Given the description of an element on the screen output the (x, y) to click on. 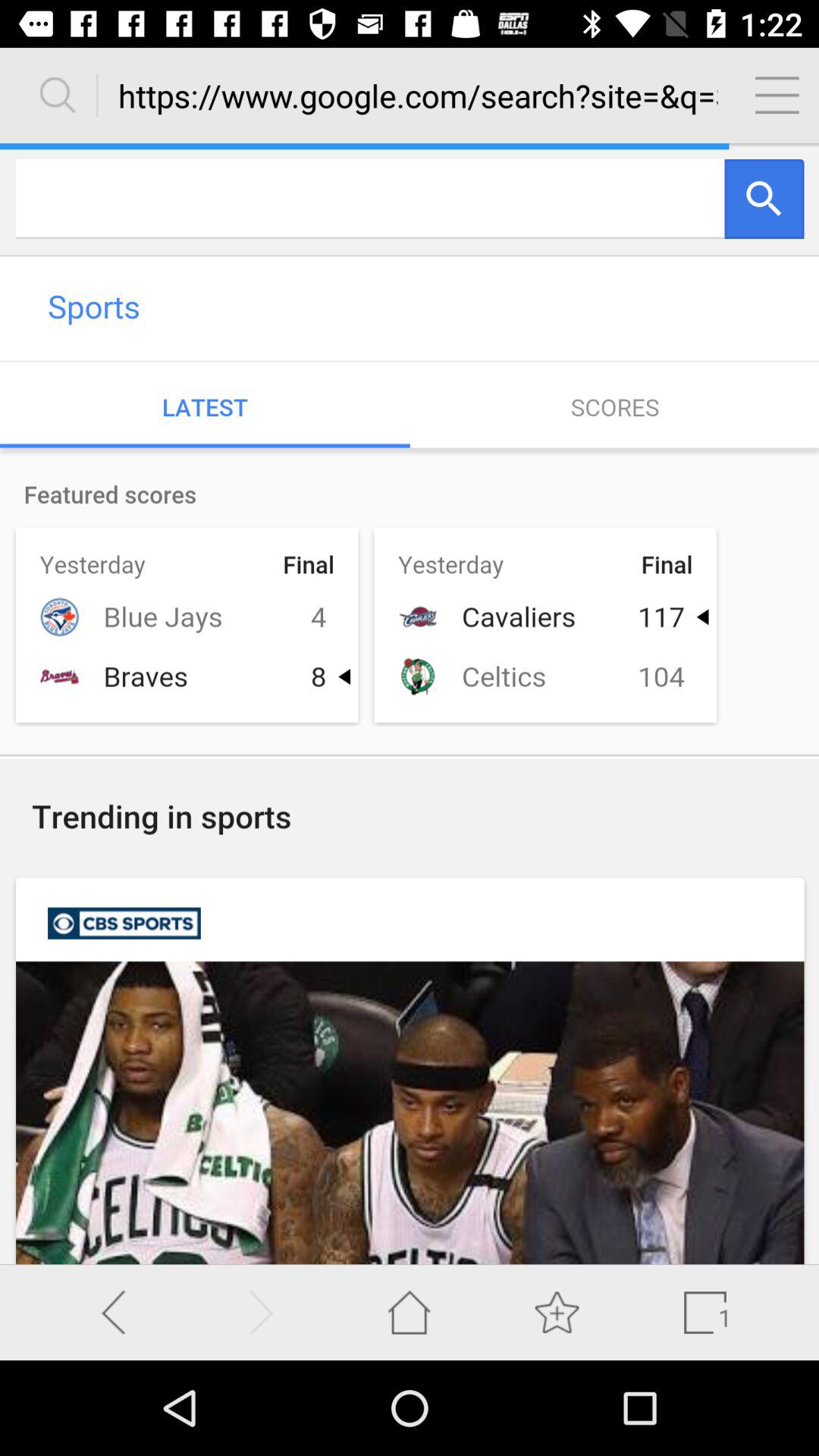
menu page (777, 95)
